Given the description of an element on the screen output the (x, y) to click on. 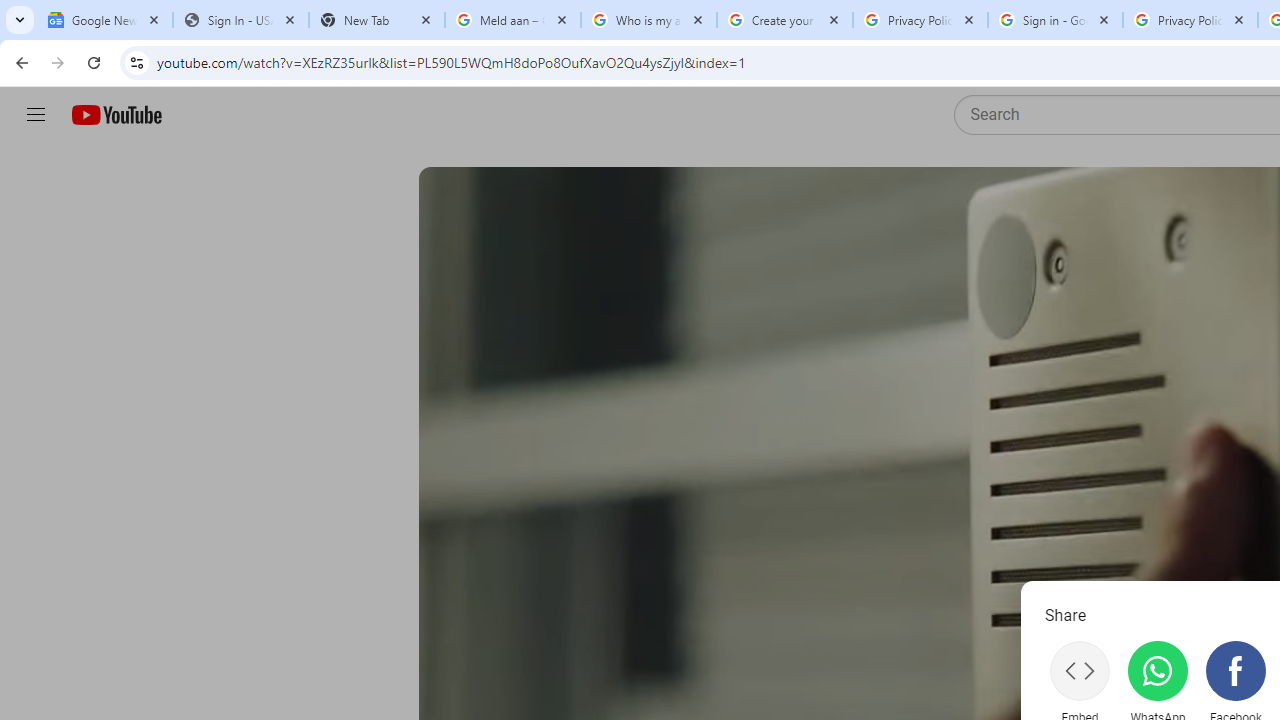
Who is my administrator? - Google Account Help (648, 20)
New Tab (376, 20)
Google News (104, 20)
Guide (35, 115)
Sign In - USA TODAY (240, 20)
YouTube Home (116, 115)
Sign in - Google Accounts (1055, 20)
